Given the description of an element on the screen output the (x, y) to click on. 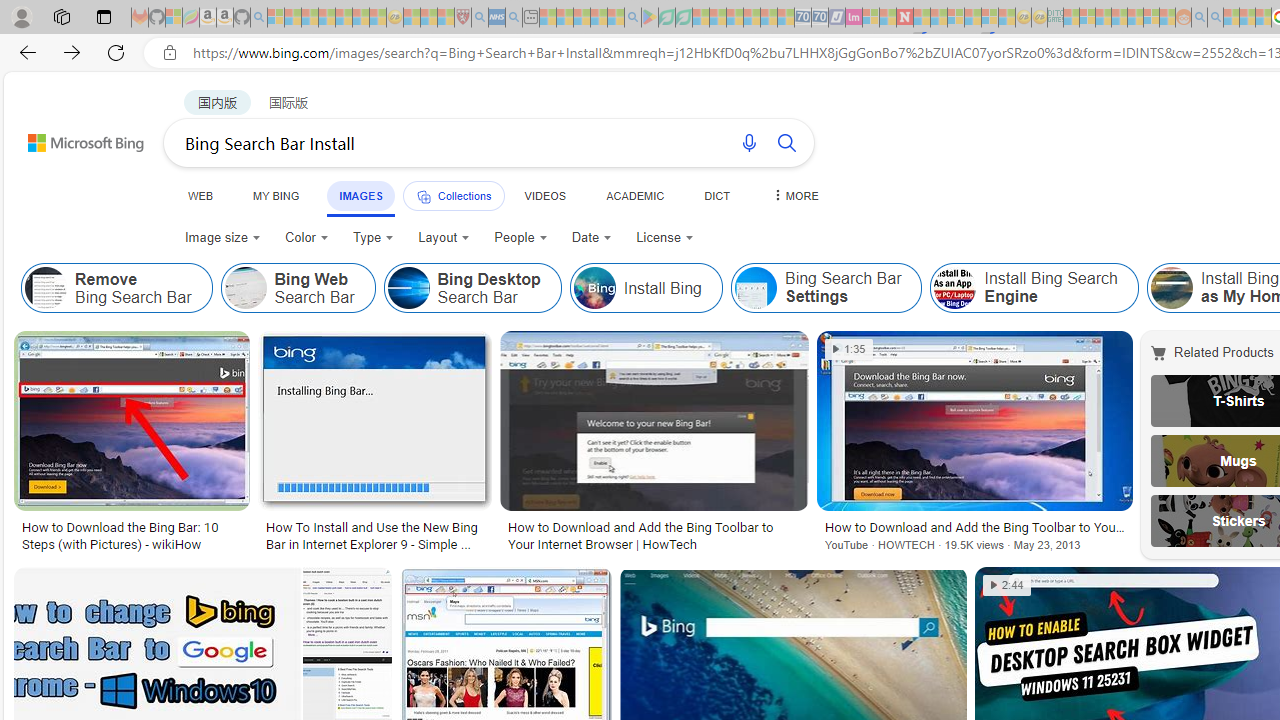
2:44 (1007, 585)
MY BING (276, 195)
DICT (717, 195)
WEB (201, 195)
